Given the description of an element on the screen output the (x, y) to click on. 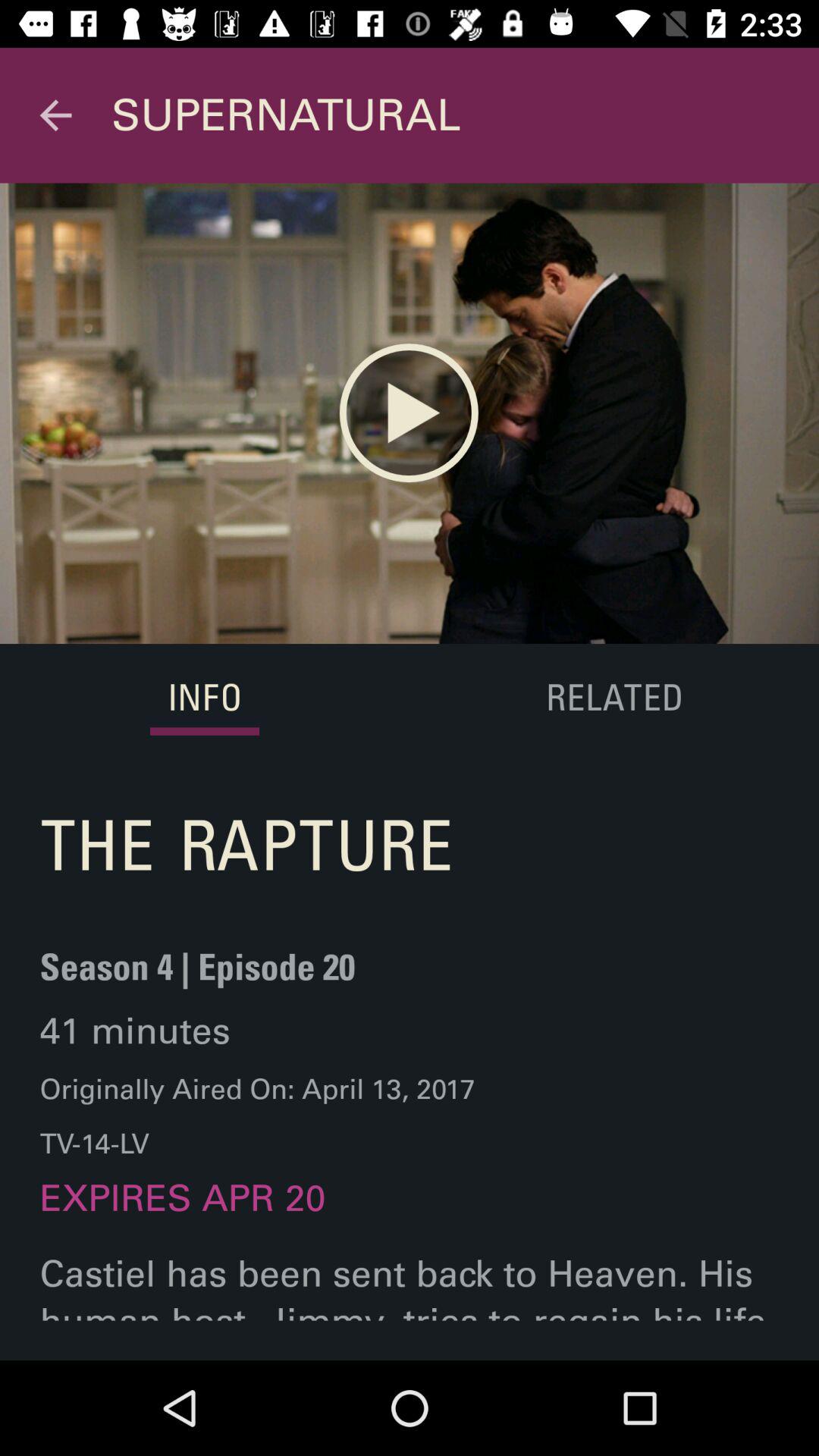
launch the originally aired on icon (257, 1116)
